Given the description of an element on the screen output the (x, y) to click on. 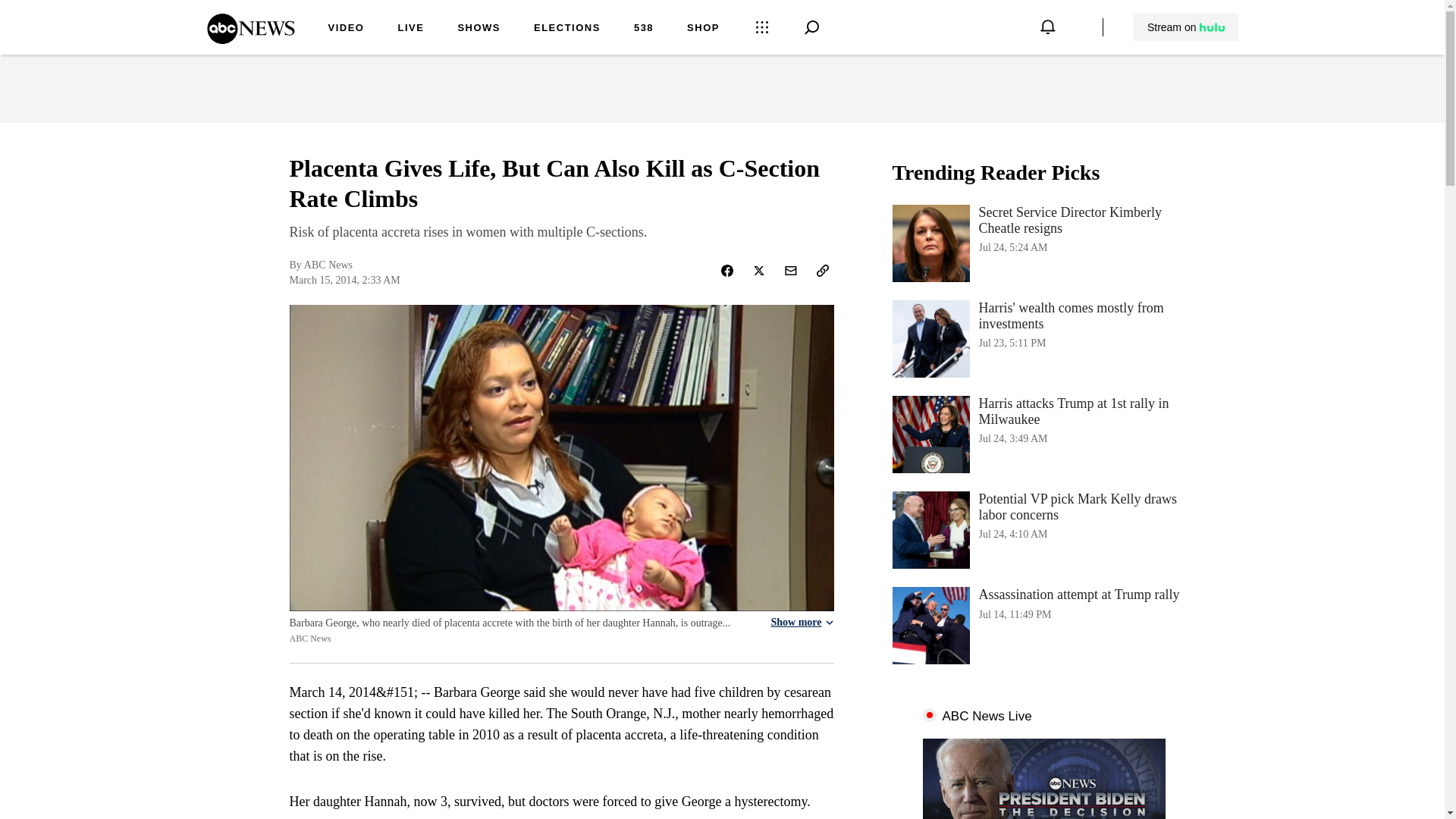
LIVE (410, 28)
538 (643, 28)
SHOWS (478, 28)
Stream on (1185, 27)
ELECTIONS (566, 28)
VIDEO (345, 28)
ABC News (250, 38)
SHOP (703, 28)
Stream on (1186, 26)
Show more (1043, 338)
